Given the description of an element on the screen output the (x, y) to click on. 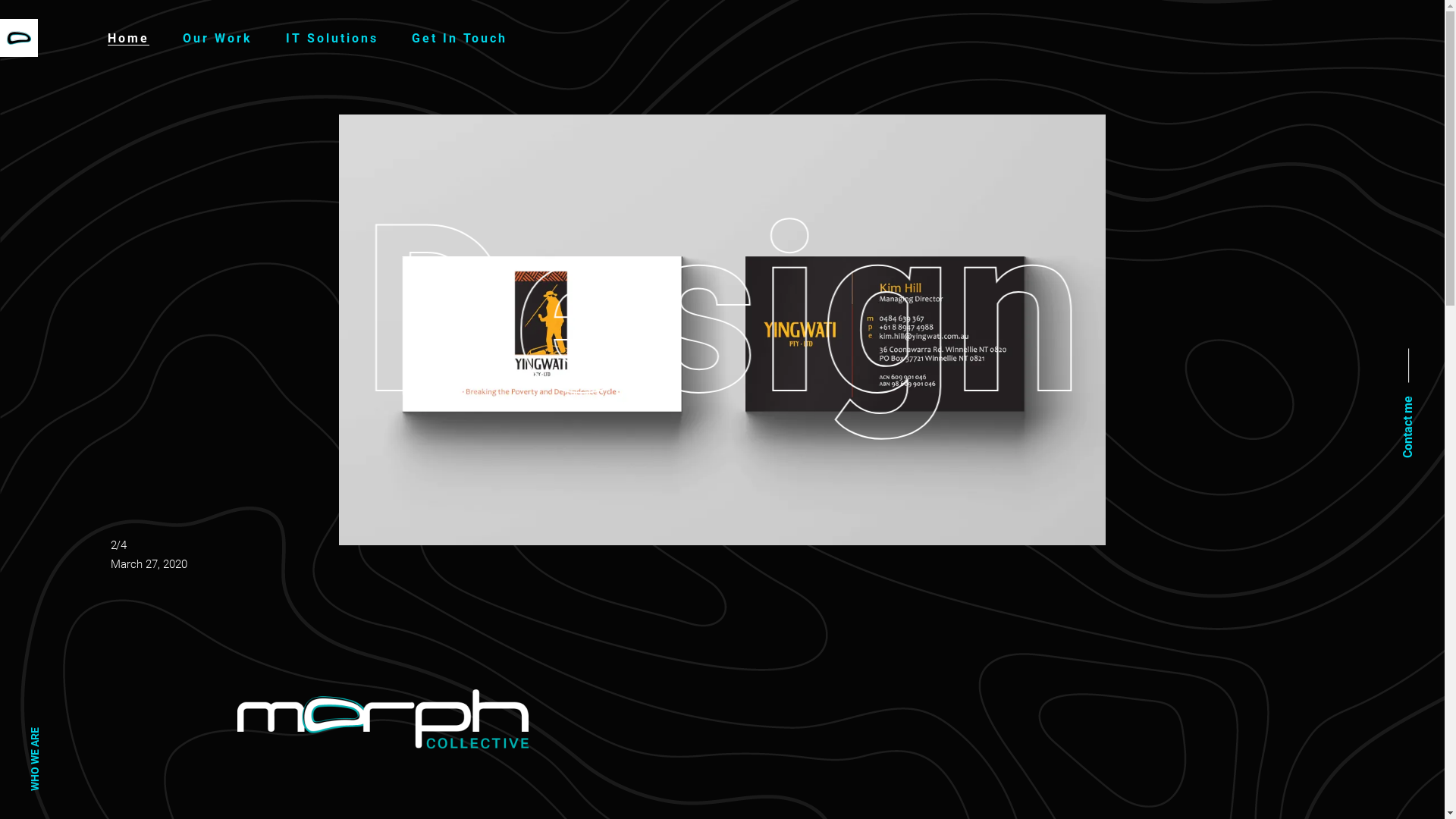
IT Solutions Element type: text (331, 37)
Home Element type: text (128, 37)
Design Element type: text (721, 310)
Our Work Element type: text (217, 37)
Get In Touch Element type: text (459, 37)
